Given the description of an element on the screen output the (x, y) to click on. 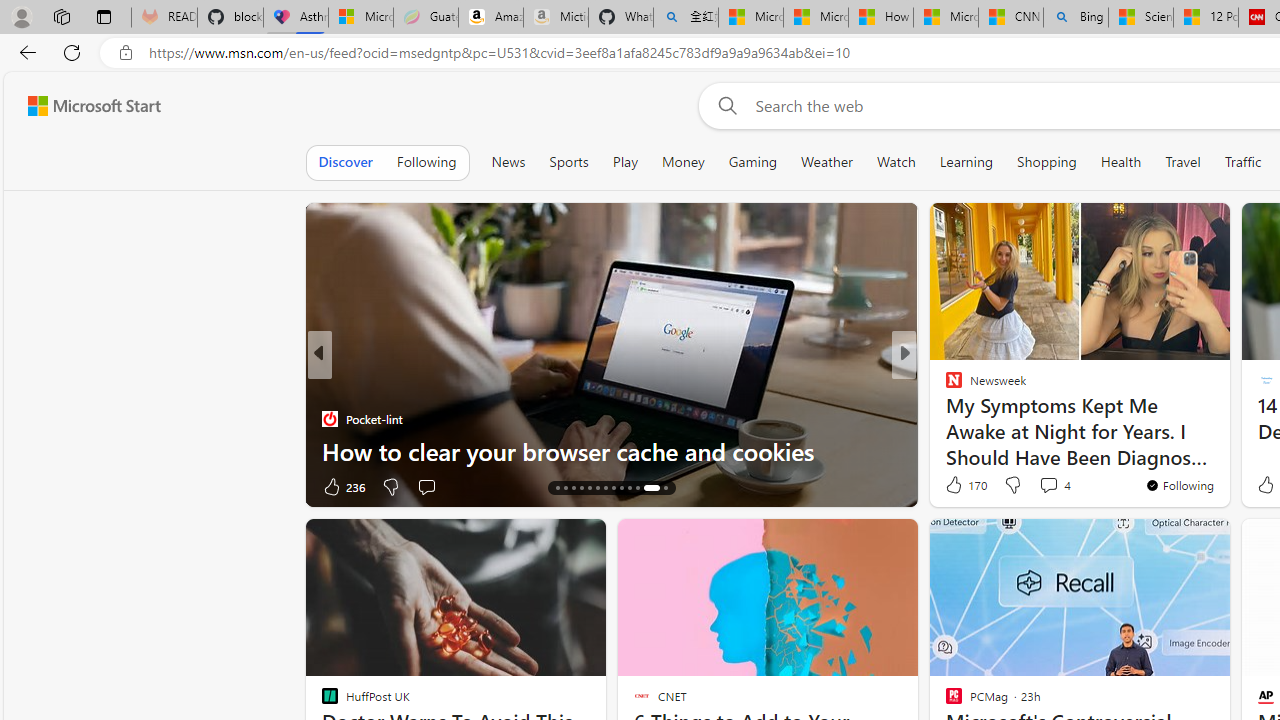
AutomationID: tab-14 (556, 487)
Sports (569, 162)
AutomationID: tab-21 (613, 487)
